Given the description of an element on the screen output the (x, y) to click on. 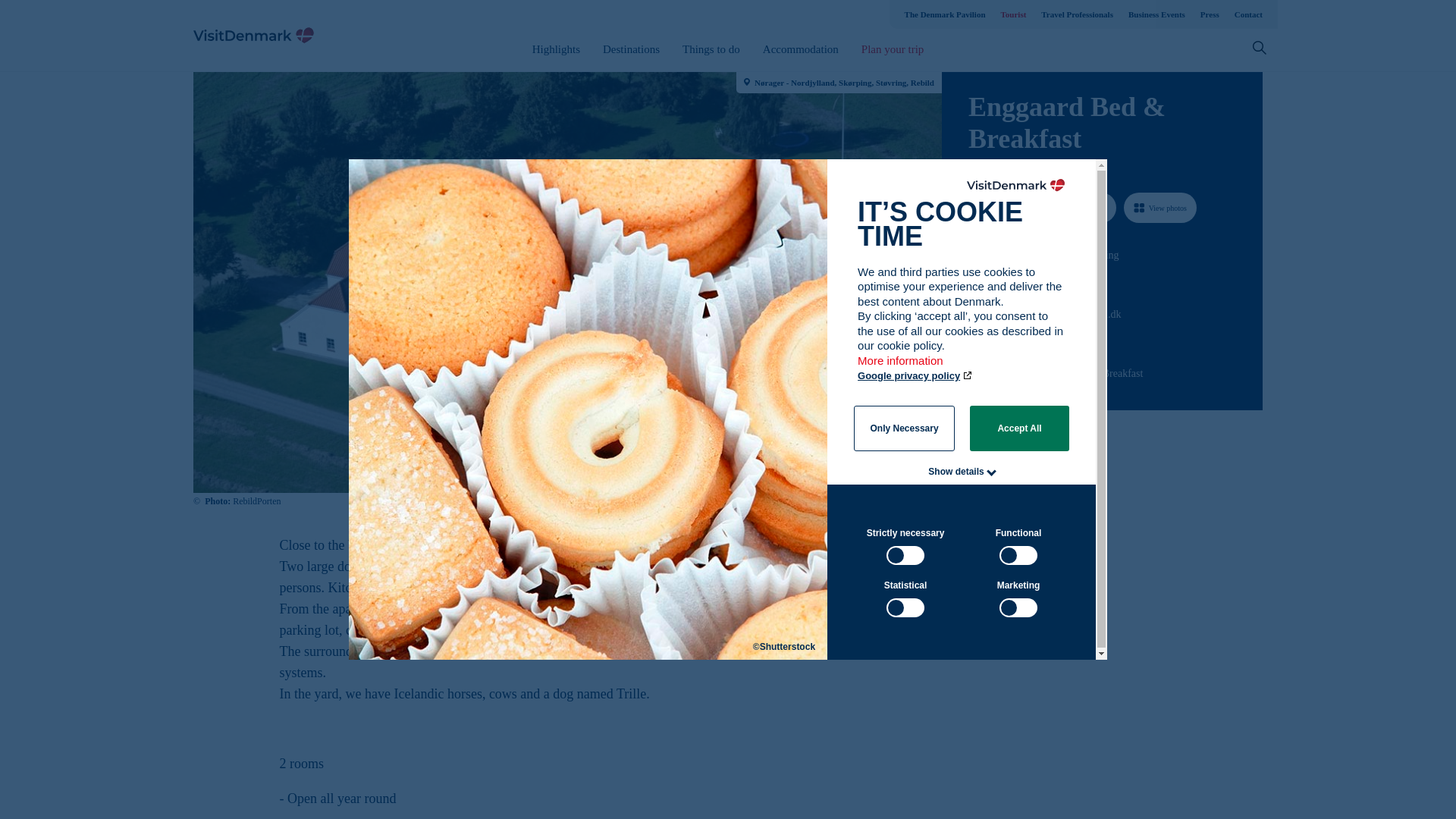
Only Necessary (904, 428)
Path (973, 342)
More information (900, 367)
Google privacy policy (915, 375)
Show details (956, 471)
Accept All (1018, 428)
